Given the description of an element on the screen output the (x, y) to click on. 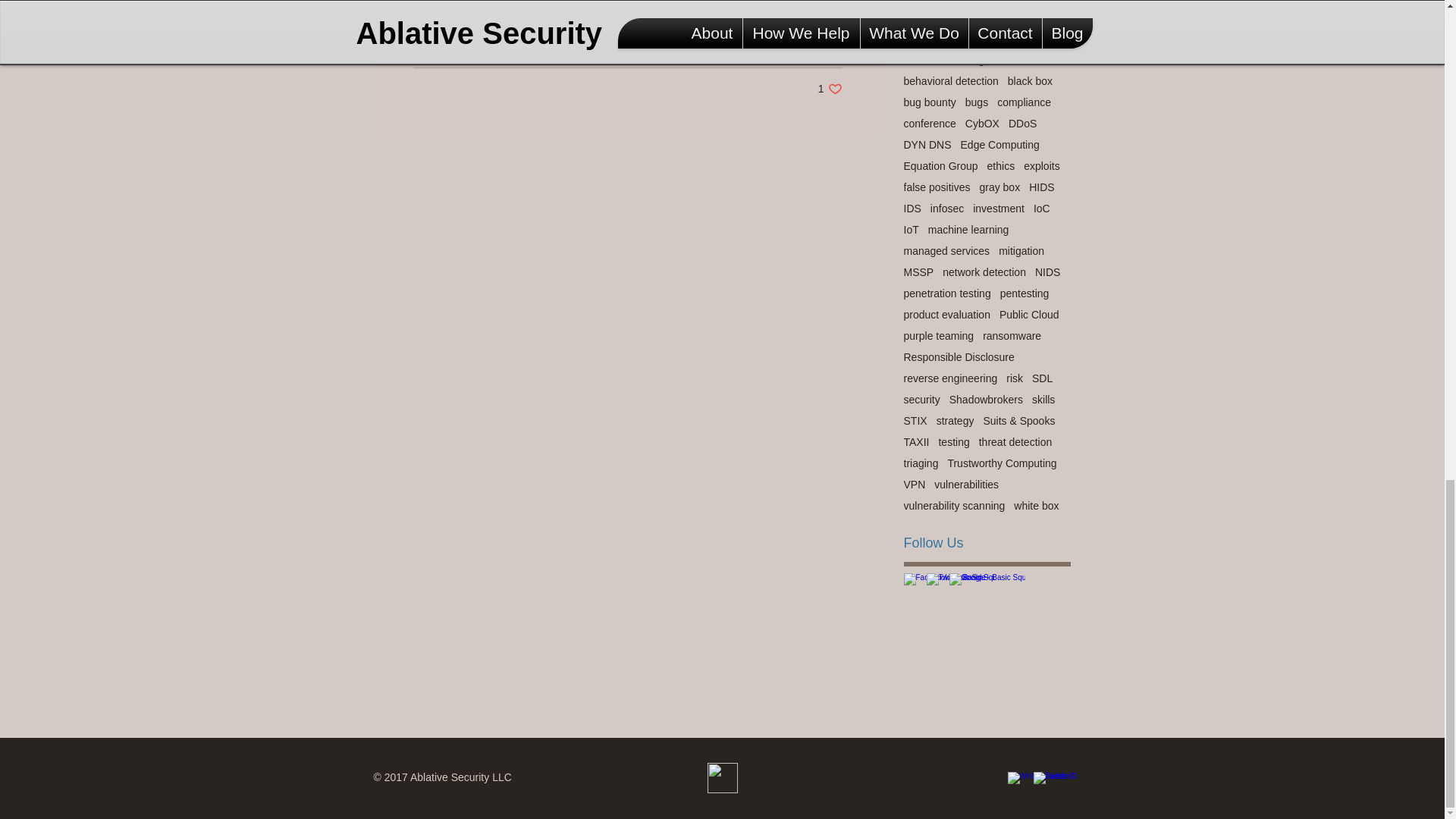
Conferences (811, 43)
0-days (830, 88)
